Given the description of an element on the screen output the (x, y) to click on. 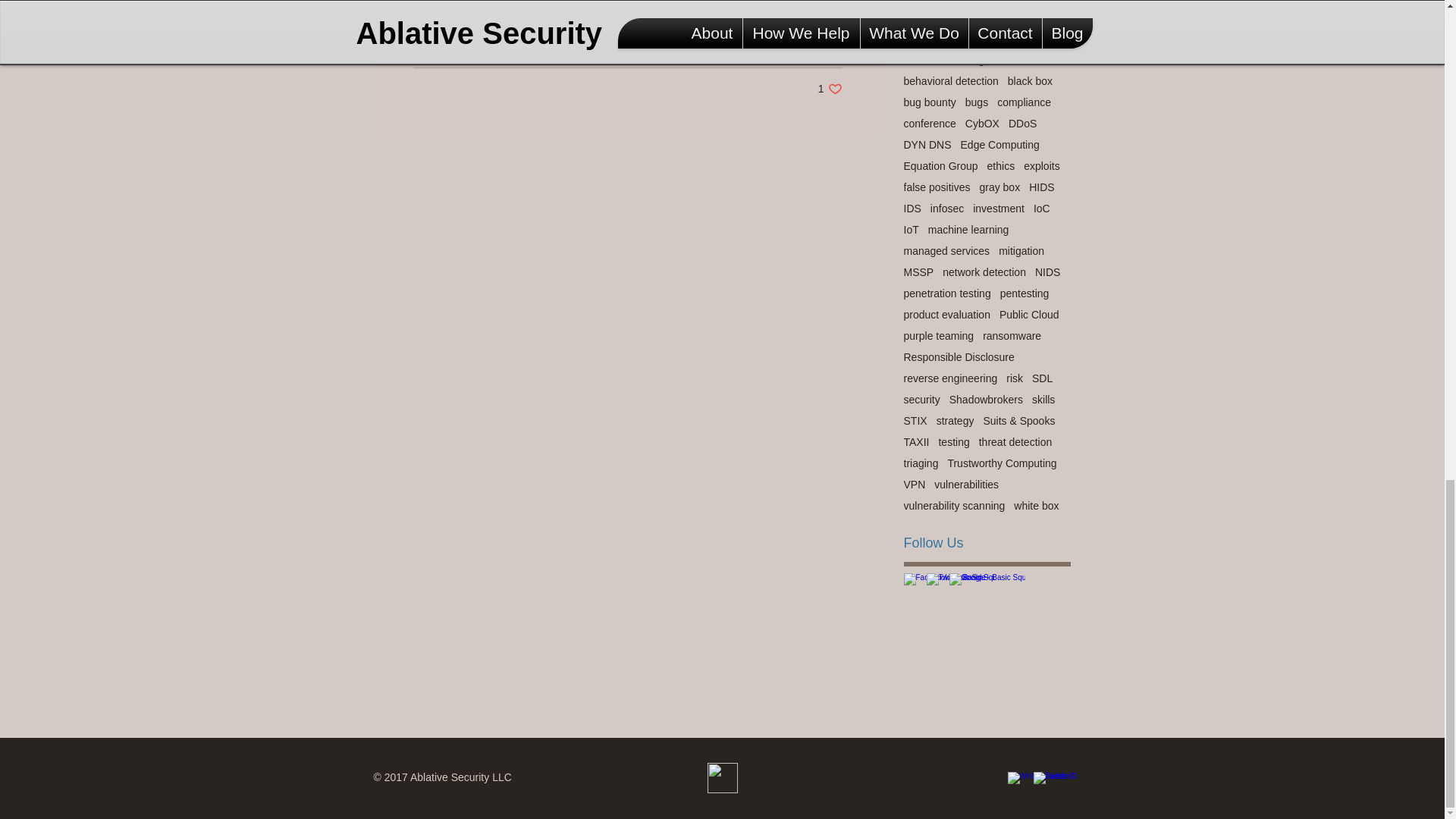
Conferences (811, 43)
0-days (830, 88)
